Given the description of an element on the screen output the (x, y) to click on. 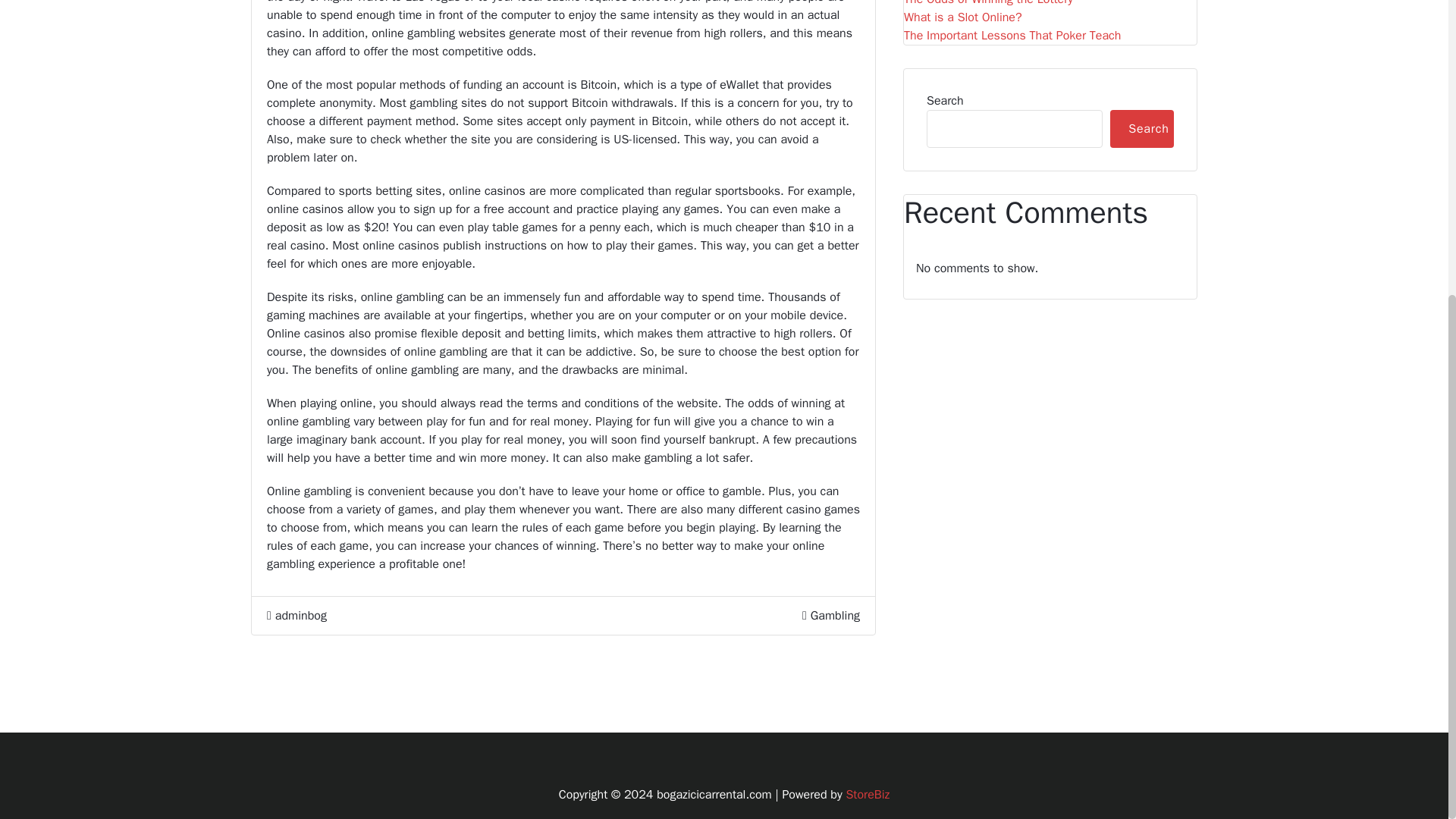
Gambling (835, 615)
The Important Lessons That Poker Teach (1012, 35)
The Odds of Winning the Lottery (988, 4)
Search (1141, 128)
What is a Slot Online? (963, 17)
adminbog (296, 615)
StoreBiz (867, 794)
adminbog (296, 615)
